Given the description of an element on the screen output the (x, y) to click on. 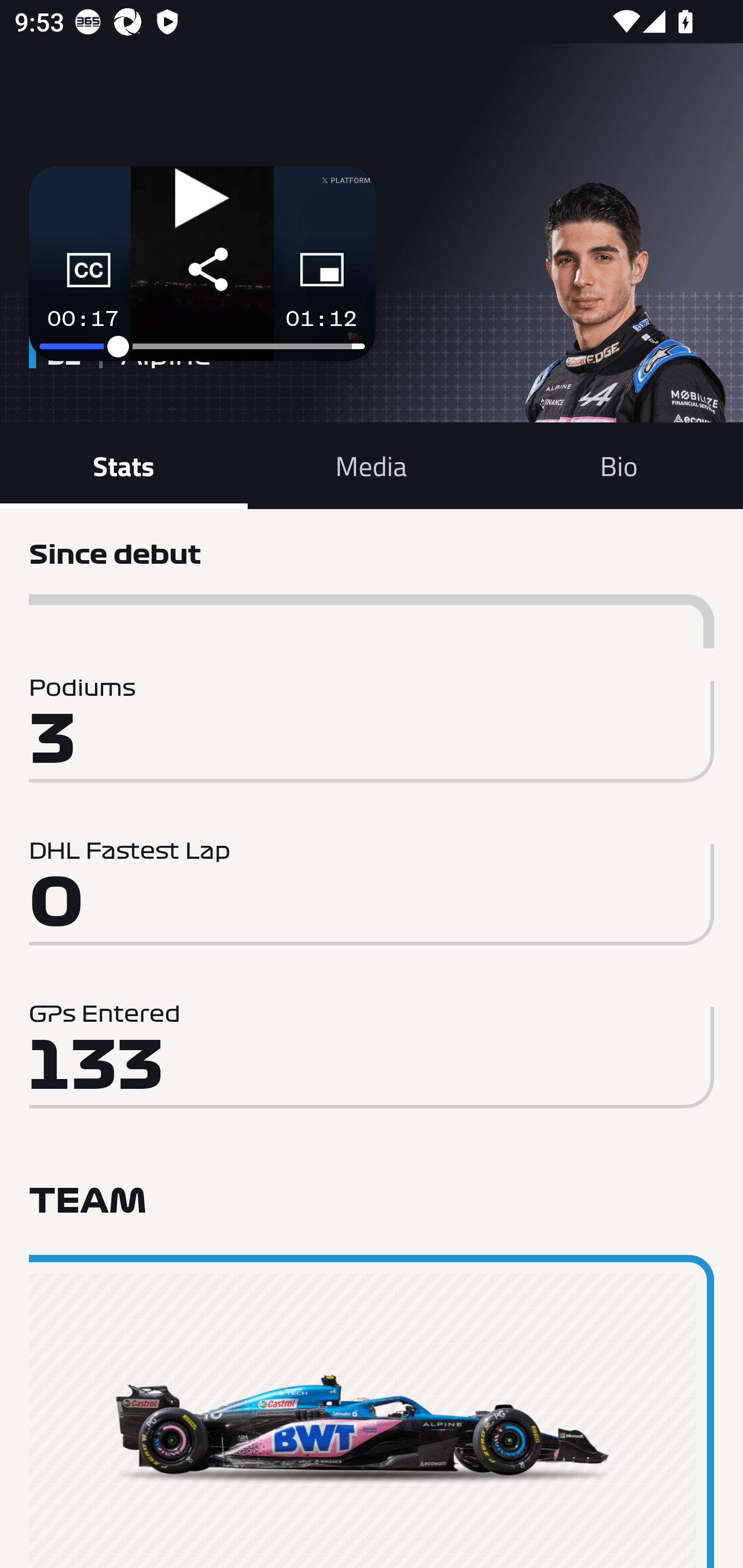
Media (371, 465)
Bio (619, 465)
